Given the description of an element on the screen output the (x, y) to click on. 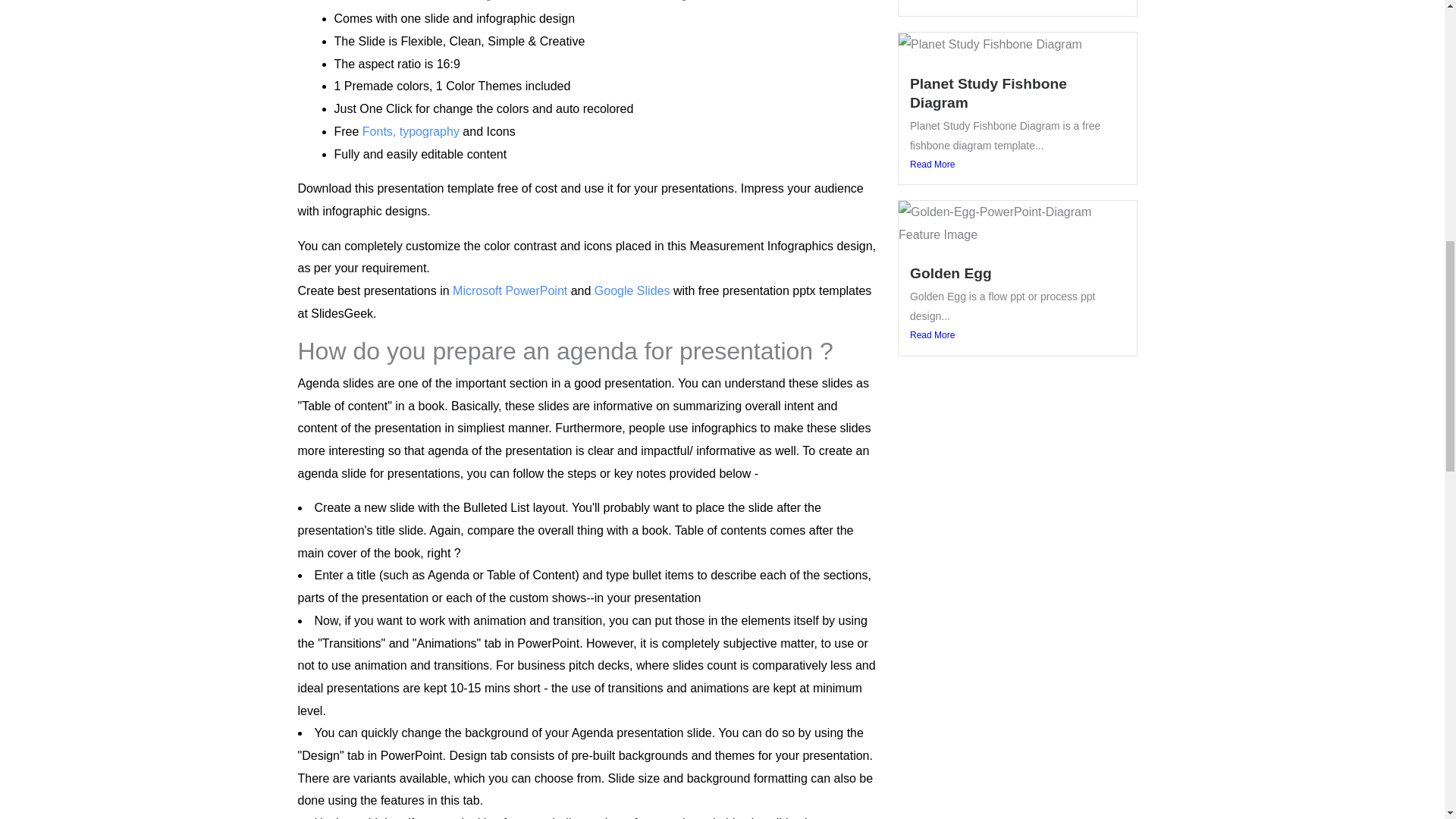
Golden Egg (950, 273)
Planet Study Fishbone Diagram (988, 93)
